Given the description of an element on the screen output the (x, y) to click on. 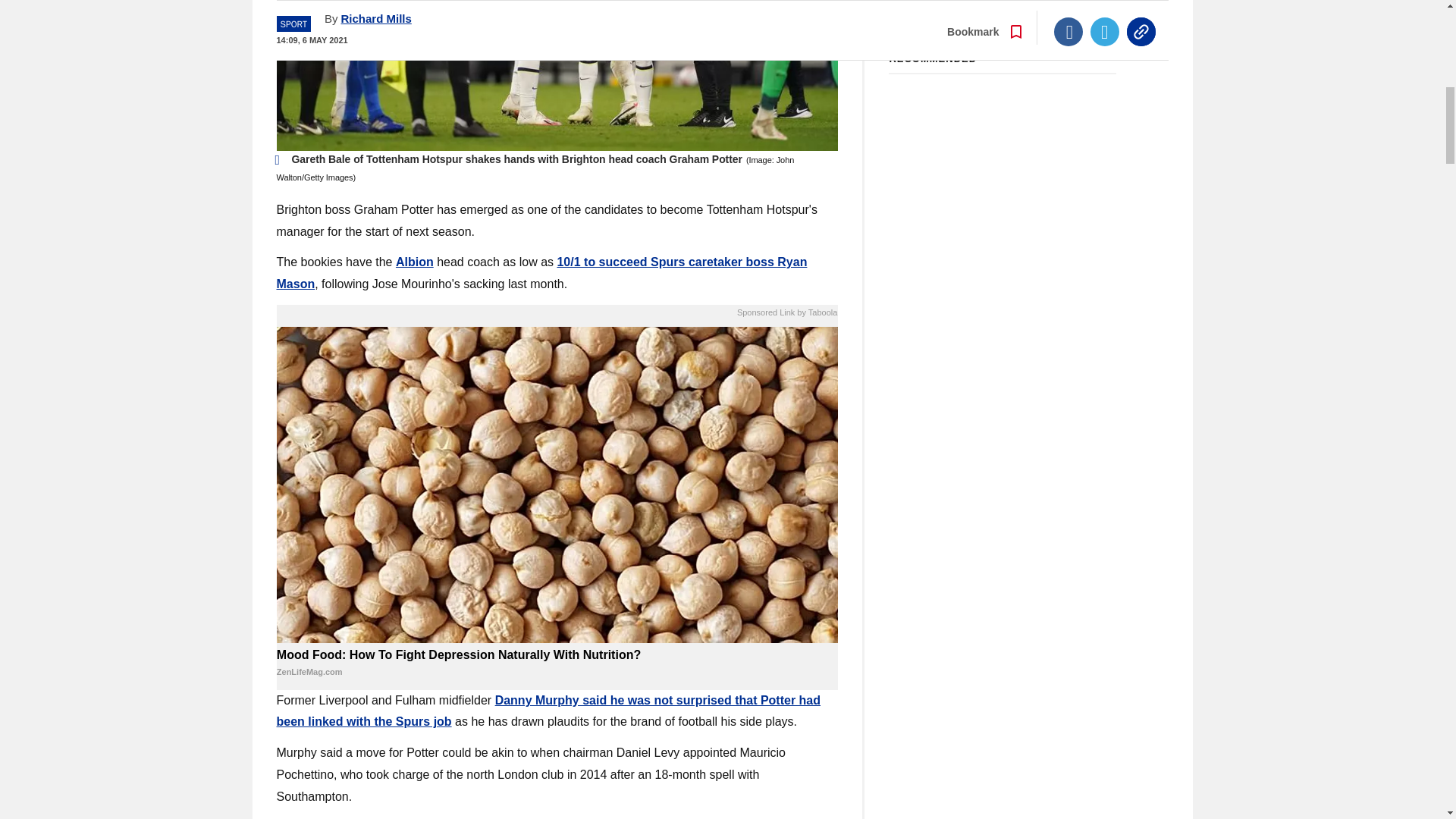
Mood Food: How To Fight Depression Naturally With Nutrition? (557, 663)
